Given the description of an element on the screen output the (x, y) to click on. 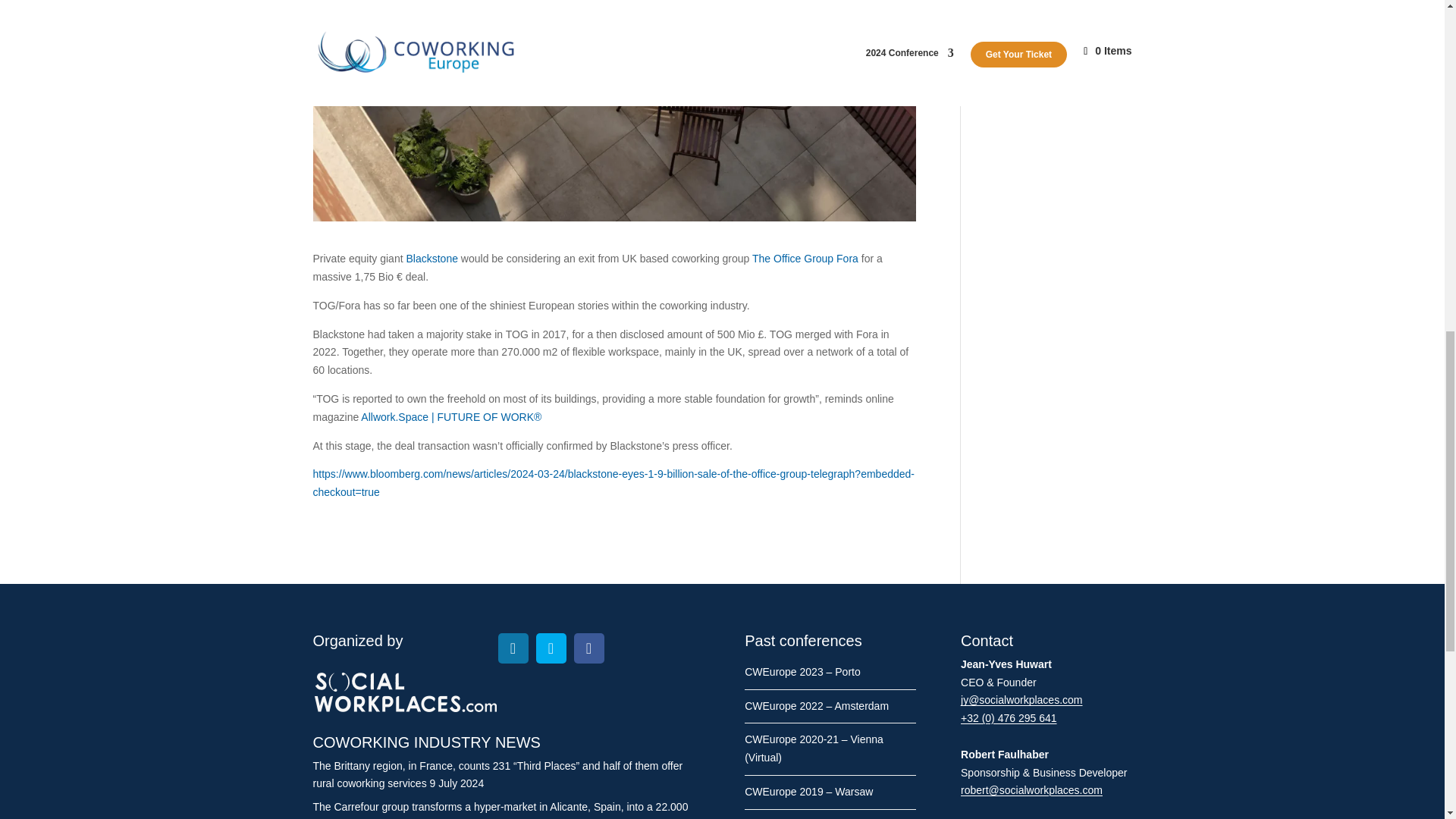
Blackstone (431, 258)
Follow on LinkedIn (512, 648)
Follow on Facebook (588, 648)
Fora (848, 258)
Follow on Twitter (550, 648)
The Office Group (792, 258)
